Given the description of an element on the screen output the (x, y) to click on. 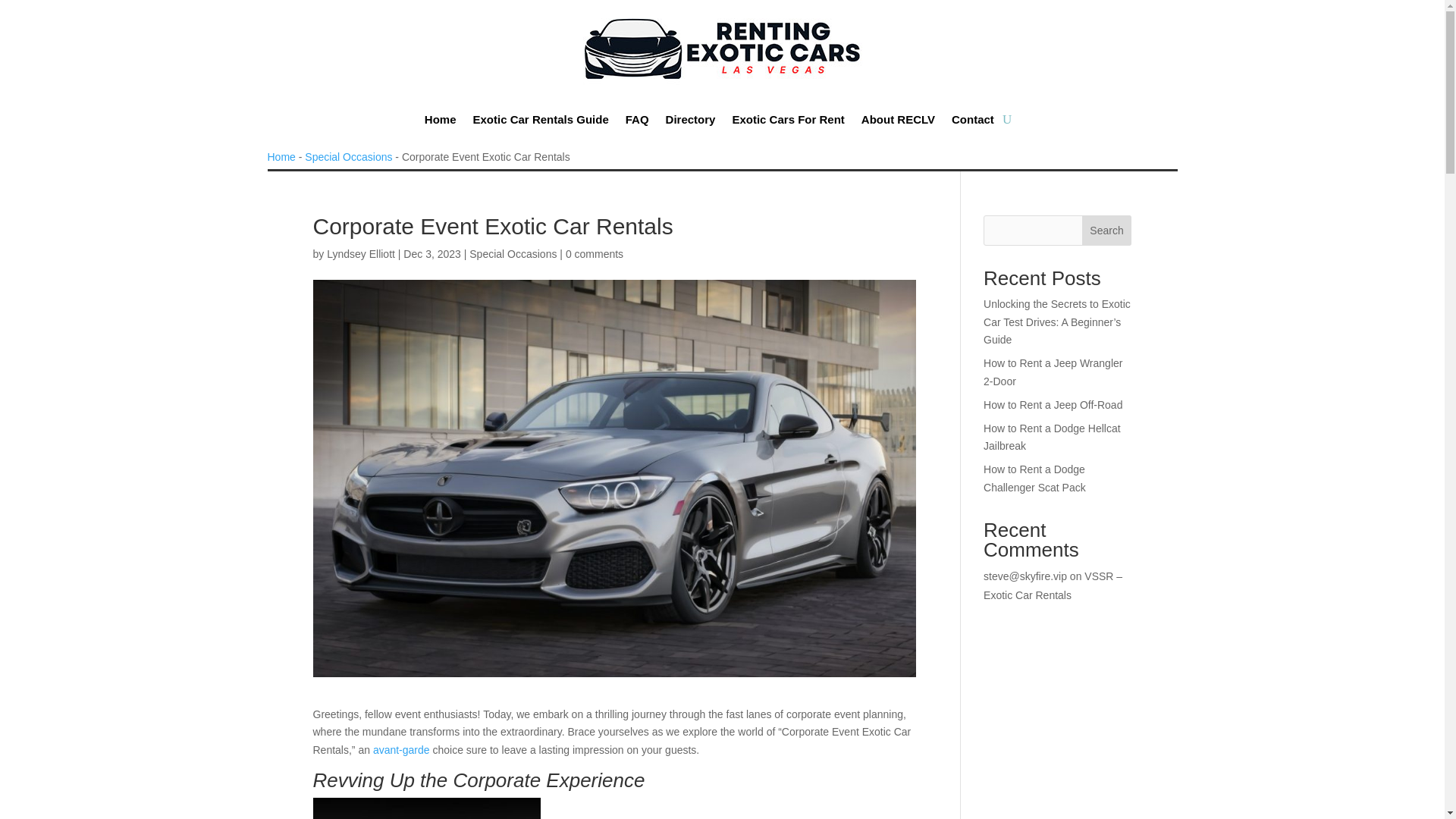
About RECLV (897, 119)
Exotic Car Rentals Guide (540, 119)
How to Rent a Dodge Challenger Scat Pack (1035, 478)
0 comments (594, 254)
Search (1106, 230)
How to Rent a Jeep Wrangler 2-Door (1053, 372)
Special Occasions (512, 254)
avant-garde (400, 749)
Posts by Lyndsey Elliott (360, 254)
How to Rent a Jeep Off-Road (1053, 404)
